Given the description of an element on the screen output the (x, y) to click on. 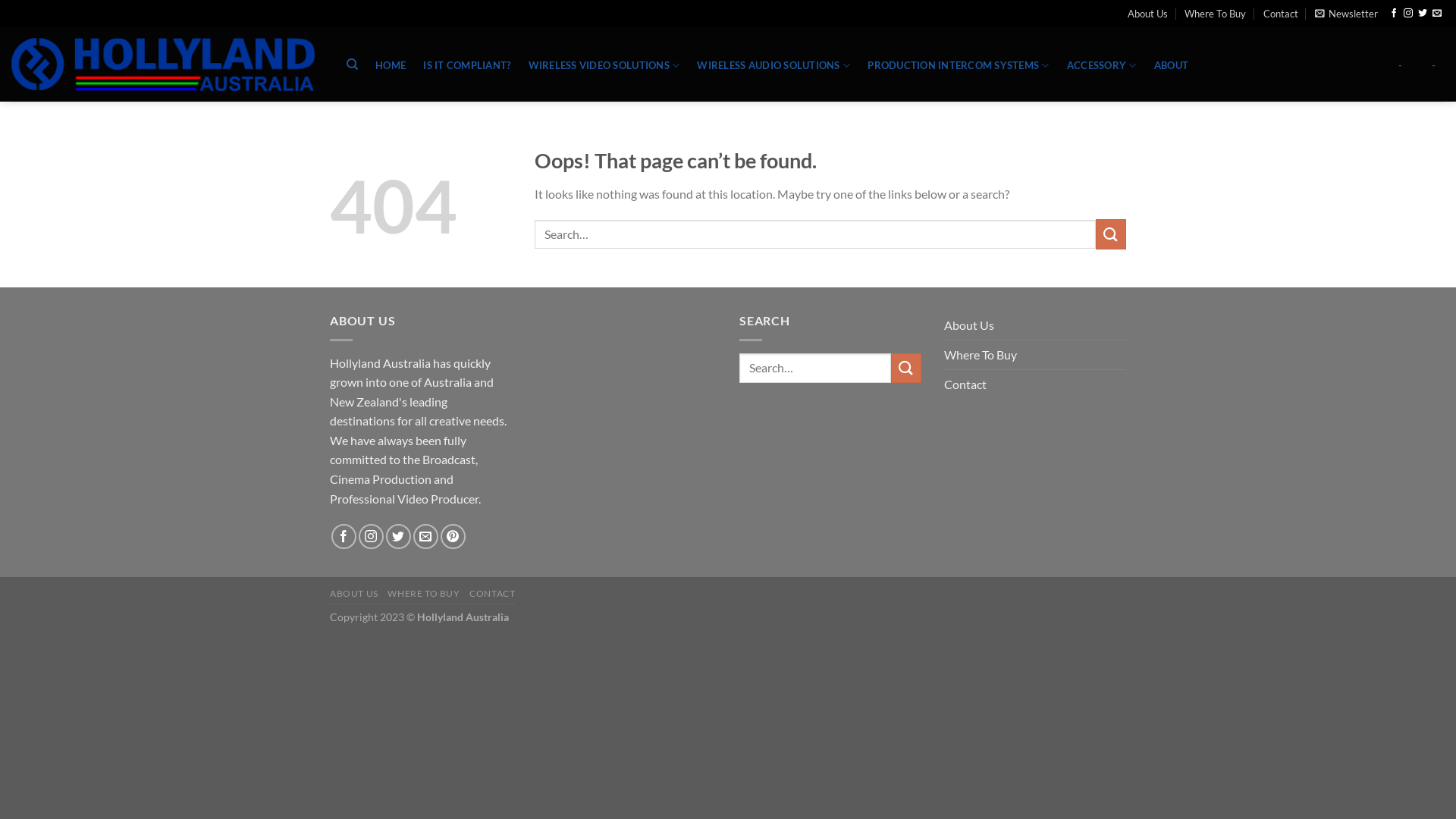
Newsletter Element type: text (1345, 13)
- Element type: text (1433, 64)
CONTACT Element type: text (491, 593)
Hollyland Australia - If it's Hollyland, it works! Element type: hover (162, 64)
HOME Element type: text (390, 64)
About Us Element type: text (1147, 13)
WIRELESS VIDEO SOLUTIONS Element type: text (603, 65)
About Us Element type: text (969, 324)
Where To Buy Element type: text (1214, 13)
Where To Buy Element type: text (980, 354)
PRODUCTION INTERCOM SYSTEMS Element type: text (958, 65)
Contact Element type: text (1280, 13)
ABOUT US Element type: text (353, 593)
IS IT COMPLIANT? Element type: text (466, 64)
Contact Element type: text (965, 384)
WIRELESS AUDIO SOLUTIONS Element type: text (773, 65)
WHERE TO BUY Element type: text (423, 593)
Skip to content Element type: text (0, 0)
ACCESSORY Element type: text (1101, 65)
- Element type: text (1399, 64)
ABOUT Element type: text (1170, 64)
